Given the description of an element on the screen output the (x, y) to click on. 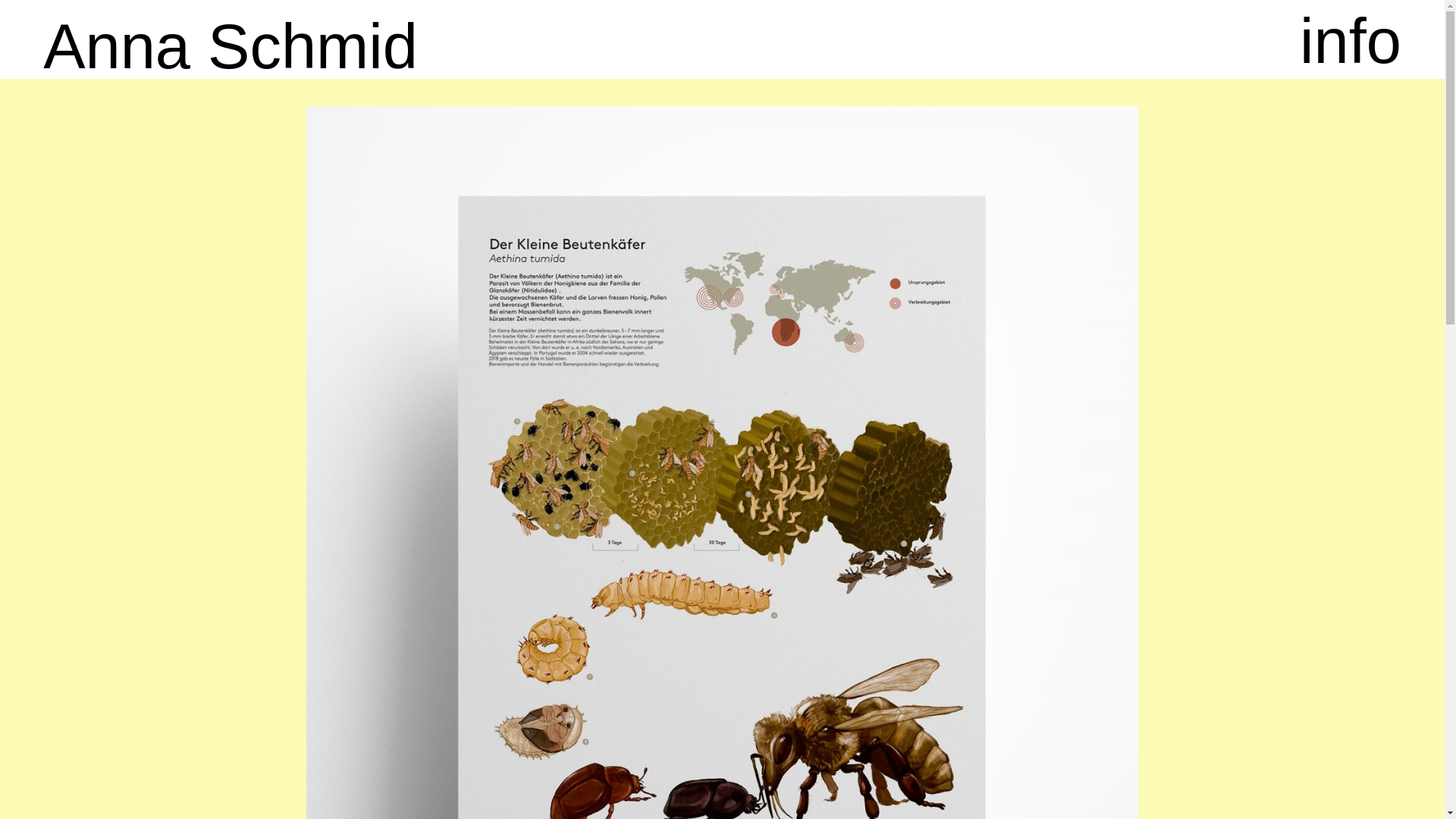
info Element type: text (1350, 41)
Anna Schmid Element type: text (230, 46)
